Given the description of an element on the screen output the (x, y) to click on. 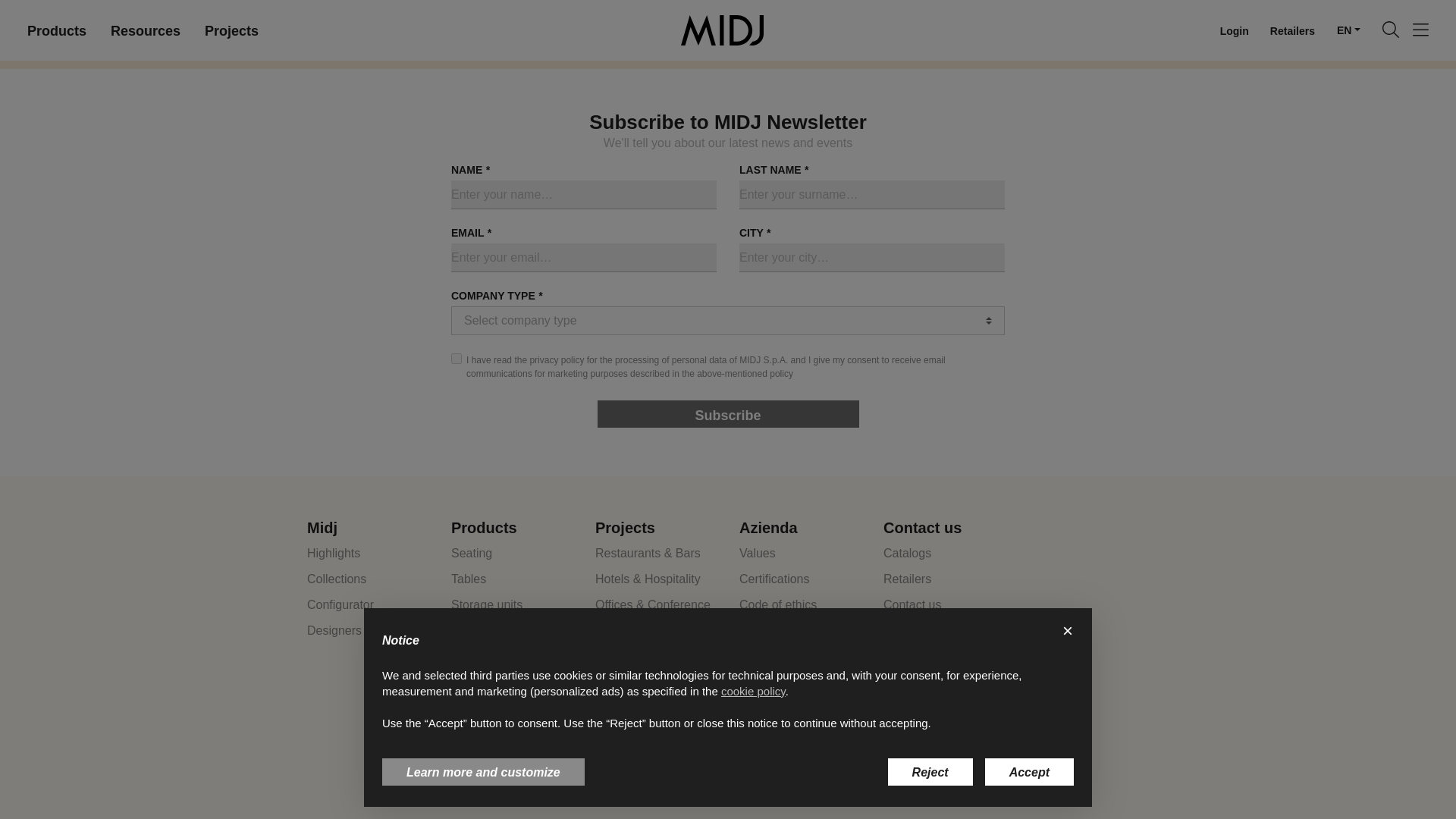
Tipo Azienda (727, 320)
